Given the description of an element on the screen output the (x, y) to click on. 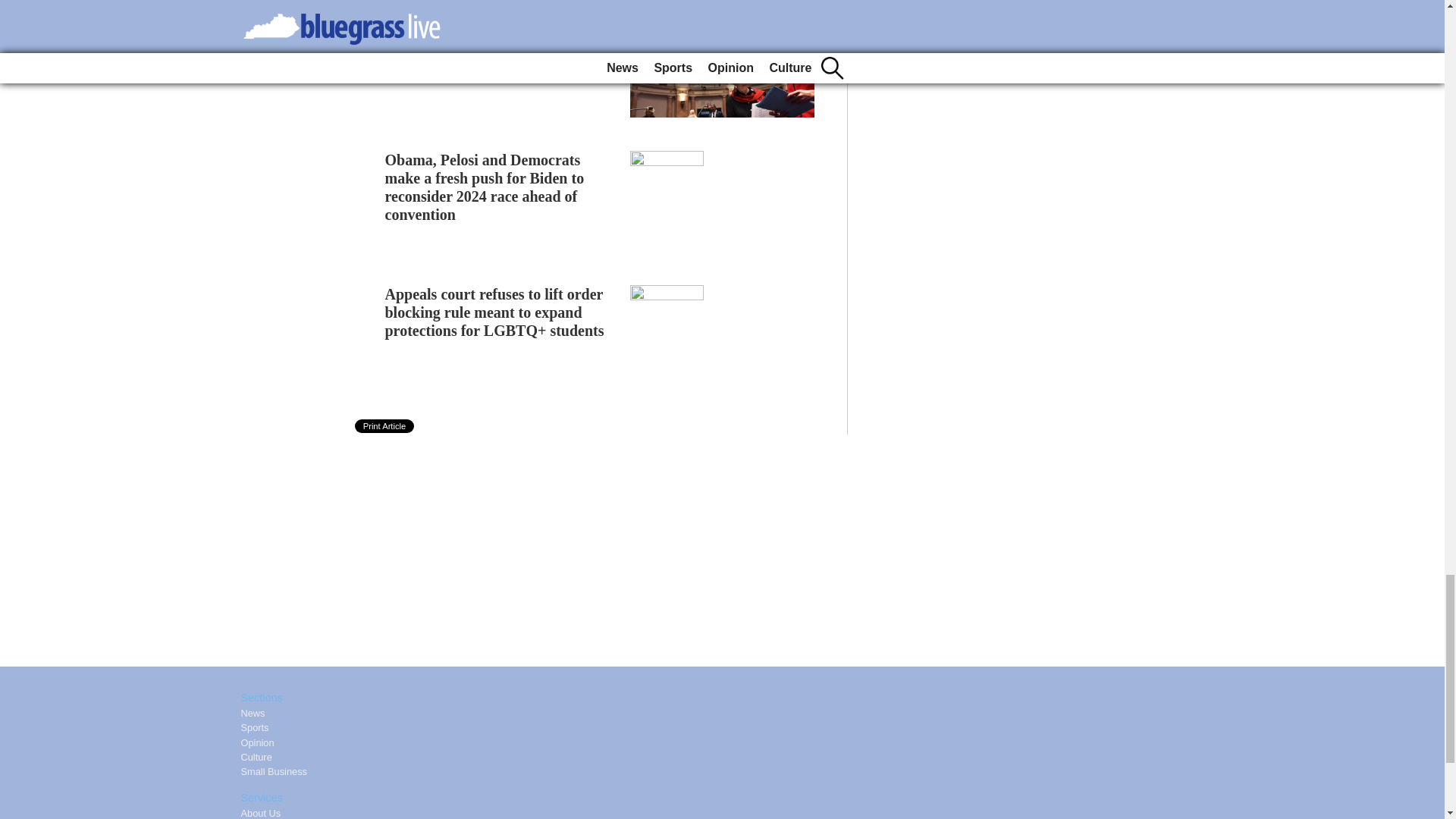
Print Article (384, 426)
News (252, 713)
DEI is back: Lawmakers reopen talks for 2025 (489, 33)
Culture (256, 756)
Opinion (258, 742)
Sports (255, 727)
Small Business (274, 771)
About Us (261, 813)
DEI is back: Lawmakers reopen talks for 2025 (489, 33)
